Given the description of an element on the screen output the (x, y) to click on. 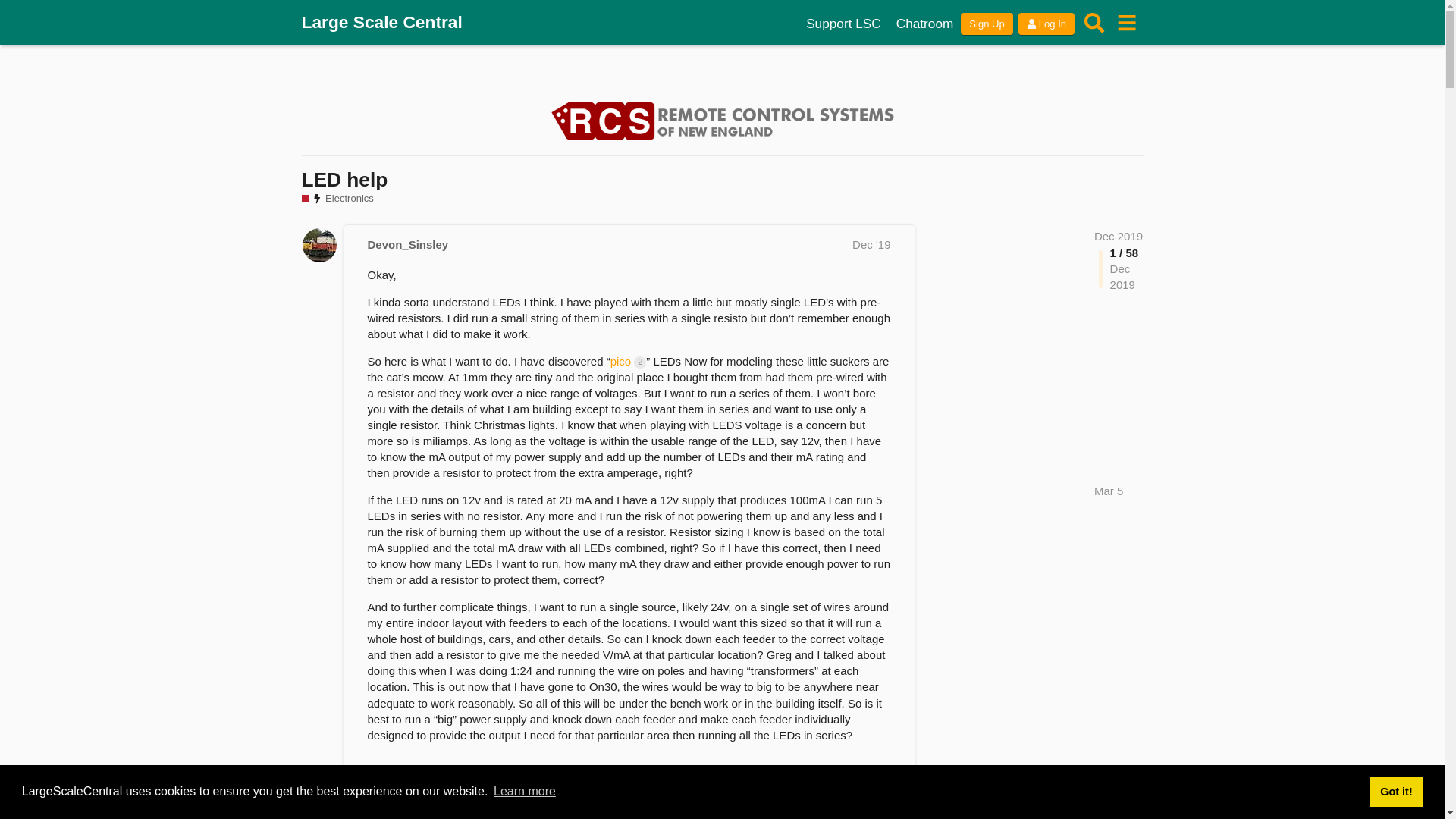
Large Scale Central (382, 22)
Mar 5 (1108, 490)
Learn more (524, 791)
Electronics (337, 198)
collapse topic details (873, 816)
Support LSC (842, 23)
2 clicks (639, 362)
Mar 5 (1108, 490)
share a link to this post (882, 784)
